Given the description of an element on the screen output the (x, y) to click on. 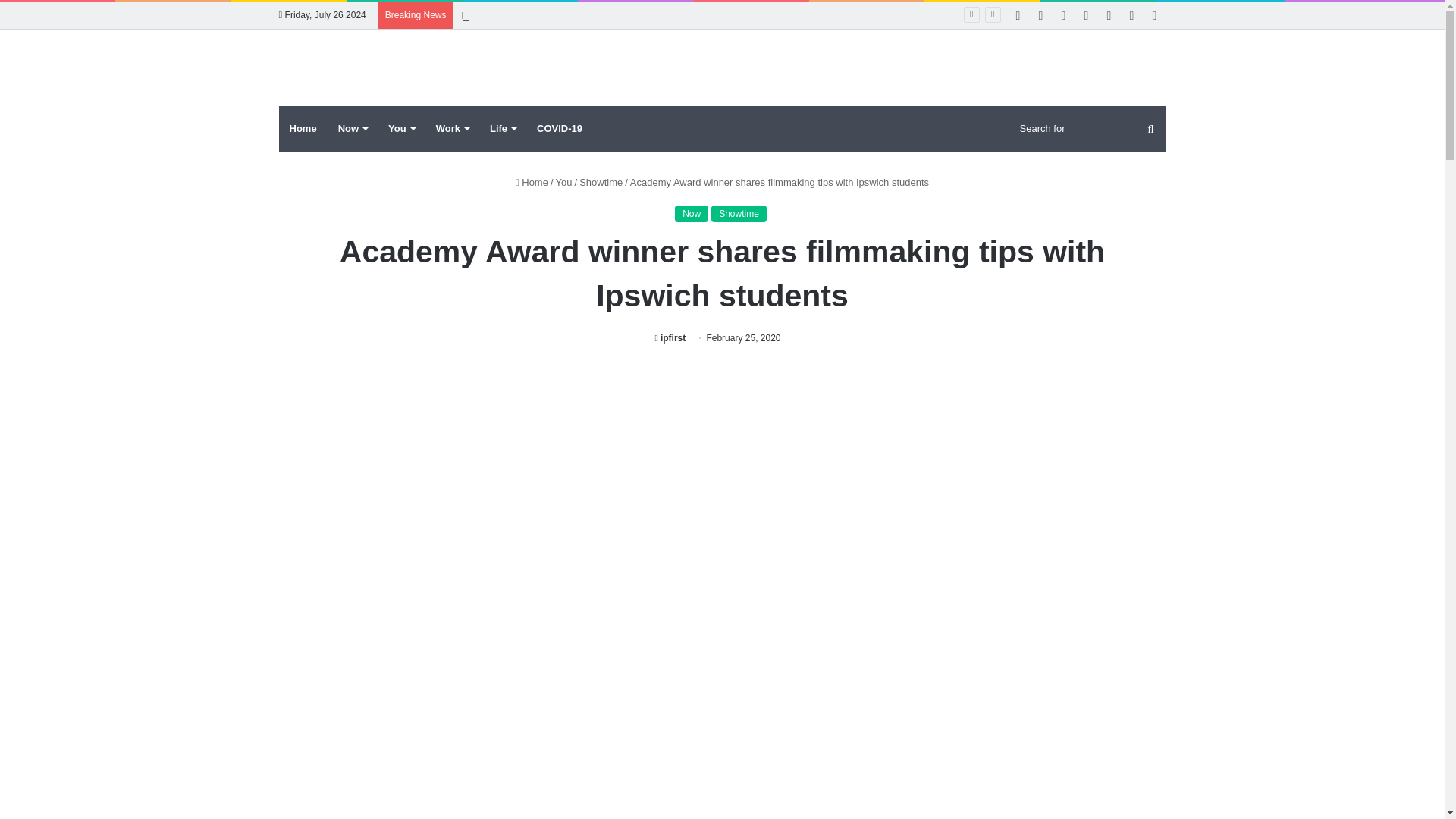
Now (691, 213)
Home (303, 128)
Home (531, 182)
Showtime (739, 213)
COVID-19 (558, 128)
ipfirst (670, 337)
You (401, 128)
Search for (1088, 128)
ipfirst (670, 337)
Showtime (601, 182)
You (564, 182)
Work (452, 128)
Now (352, 128)
Life (502, 128)
